Given the description of an element on the screen output the (x, y) to click on. 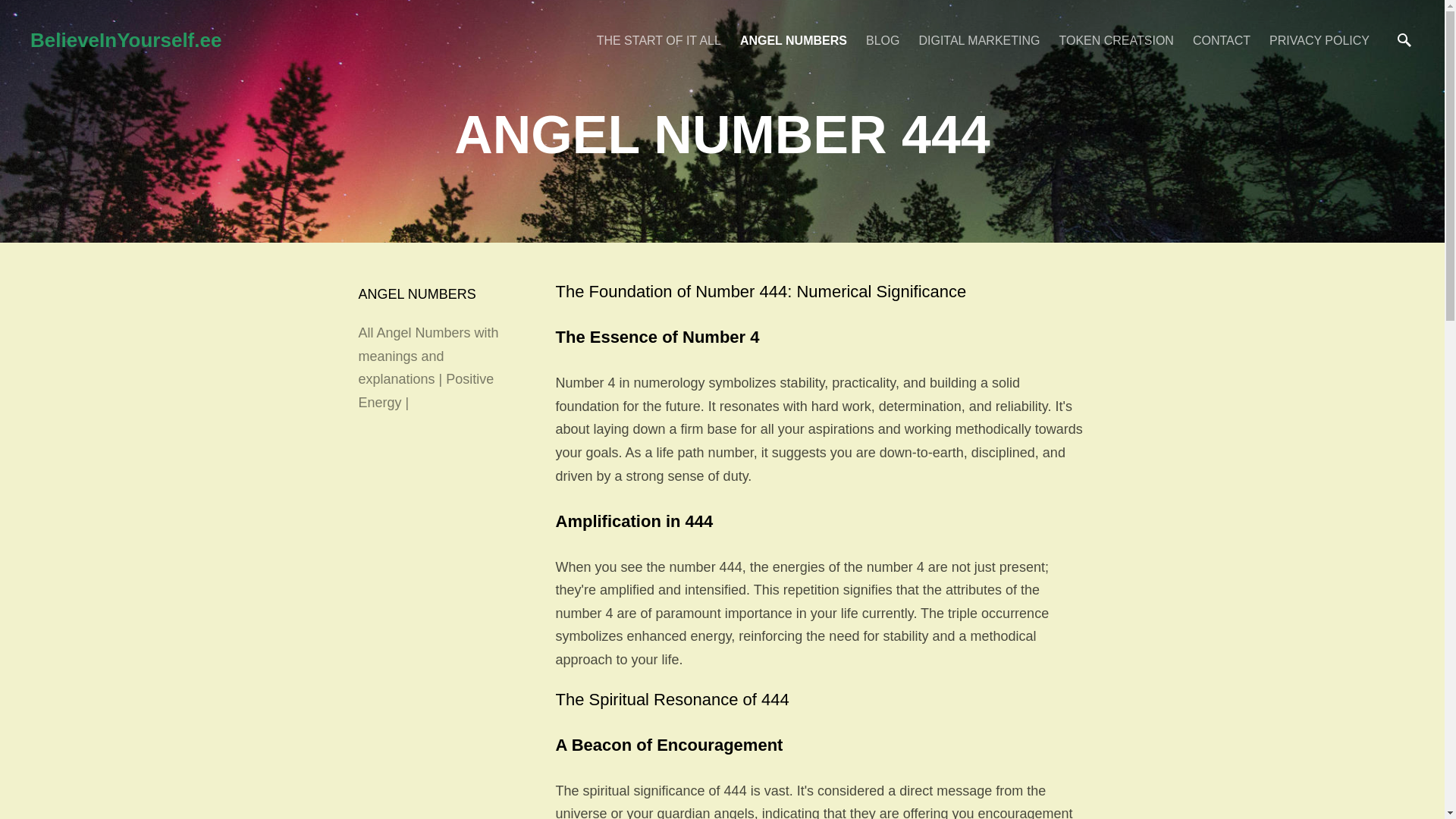
CONTACT (1221, 40)
DIGITAL MARKETING (978, 40)
THE START OF IT ALL (658, 40)
TOKEN CREATSION (1115, 40)
PRIVACY POLICY (1319, 40)
BLOG (882, 40)
ANGEL NUMBERS (417, 294)
ANGEL NUMBERS (793, 40)
BelieveInYourself.ee (305, 39)
